Given the description of an element on the screen output the (x, y) to click on. 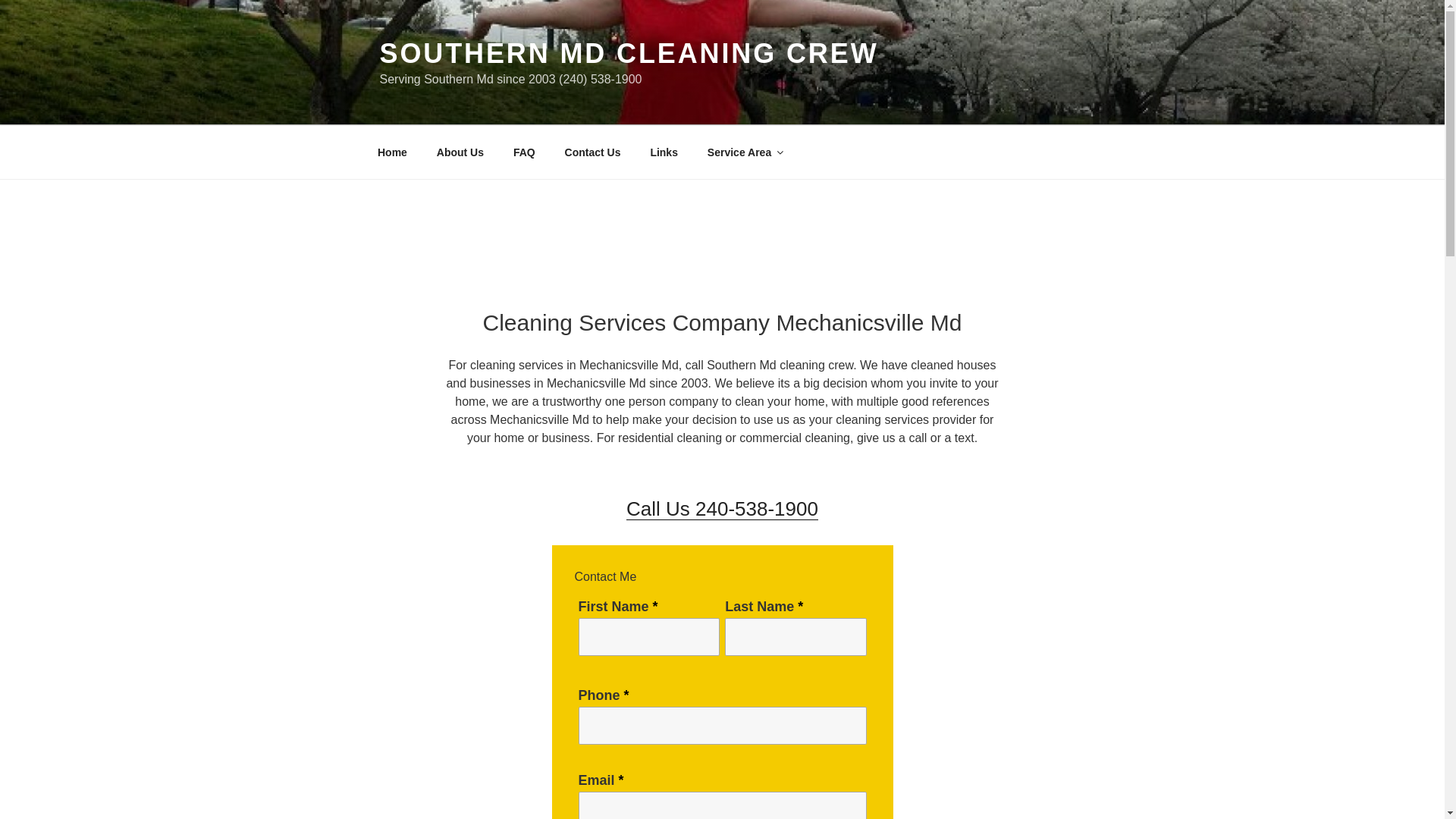
Home (392, 151)
About Us (459, 151)
SOUTHERN MD CLEANING CREW (627, 52)
Links (664, 151)
Service Area (744, 151)
Contact Us (592, 151)
Call Us 240-538-1900 (722, 508)
FAQ (523, 151)
